Given the description of an element on the screen output the (x, y) to click on. 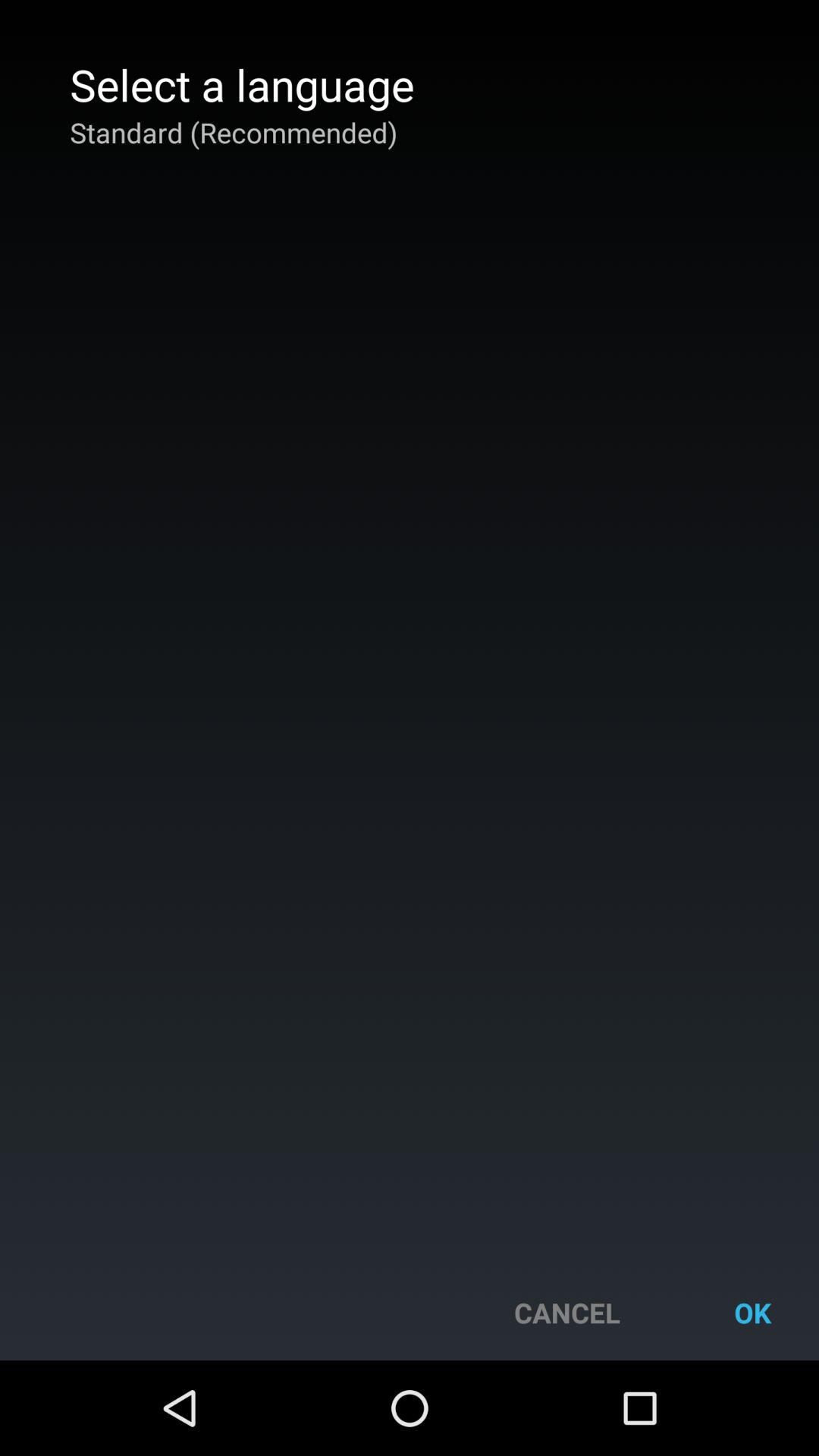
open standard (recommended) app (233, 132)
